Given the description of an element on the screen output the (x, y) to click on. 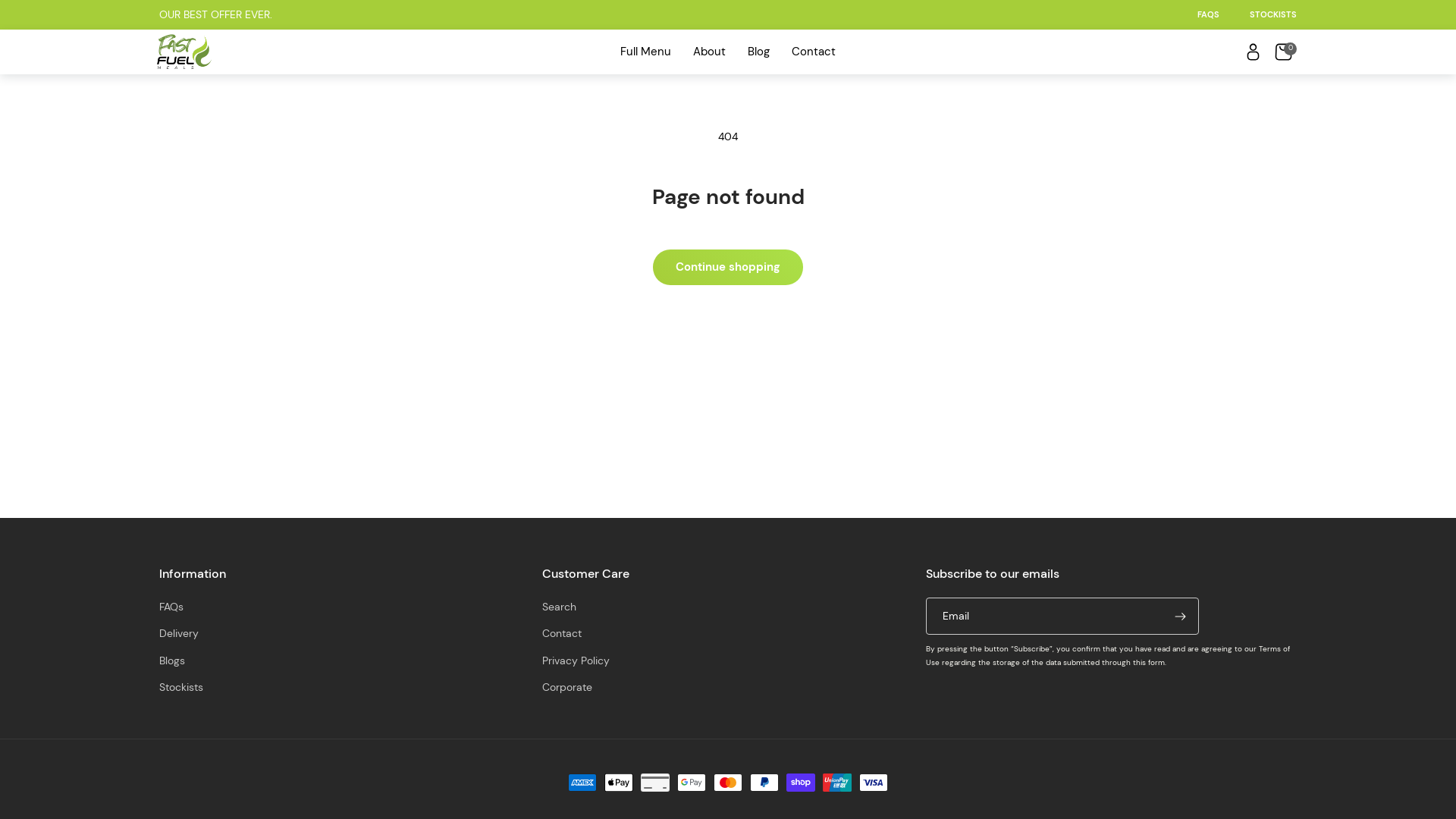
Contact Element type: text (812, 51)
About Element type: text (708, 51)
Search Element type: text (559, 608)
Contact Element type: text (561, 633)
STOCKISTS Element type: text (1272, 14)
FAQs Element type: text (171, 608)
Corporate Element type: text (567, 687)
Stockists Element type: text (181, 687)
Delivery Element type: text (178, 633)
Blog Element type: text (757, 51)
Full Menu Element type: text (645, 51)
Continue shopping Element type: text (727, 267)
Log in Element type: text (1252, 51)
Blogs Element type: text (172, 660)
FAQS Element type: text (1208, 14)
Privacy Policy Element type: text (575, 660)
